Given the description of an element on the screen output the (x, y) to click on. 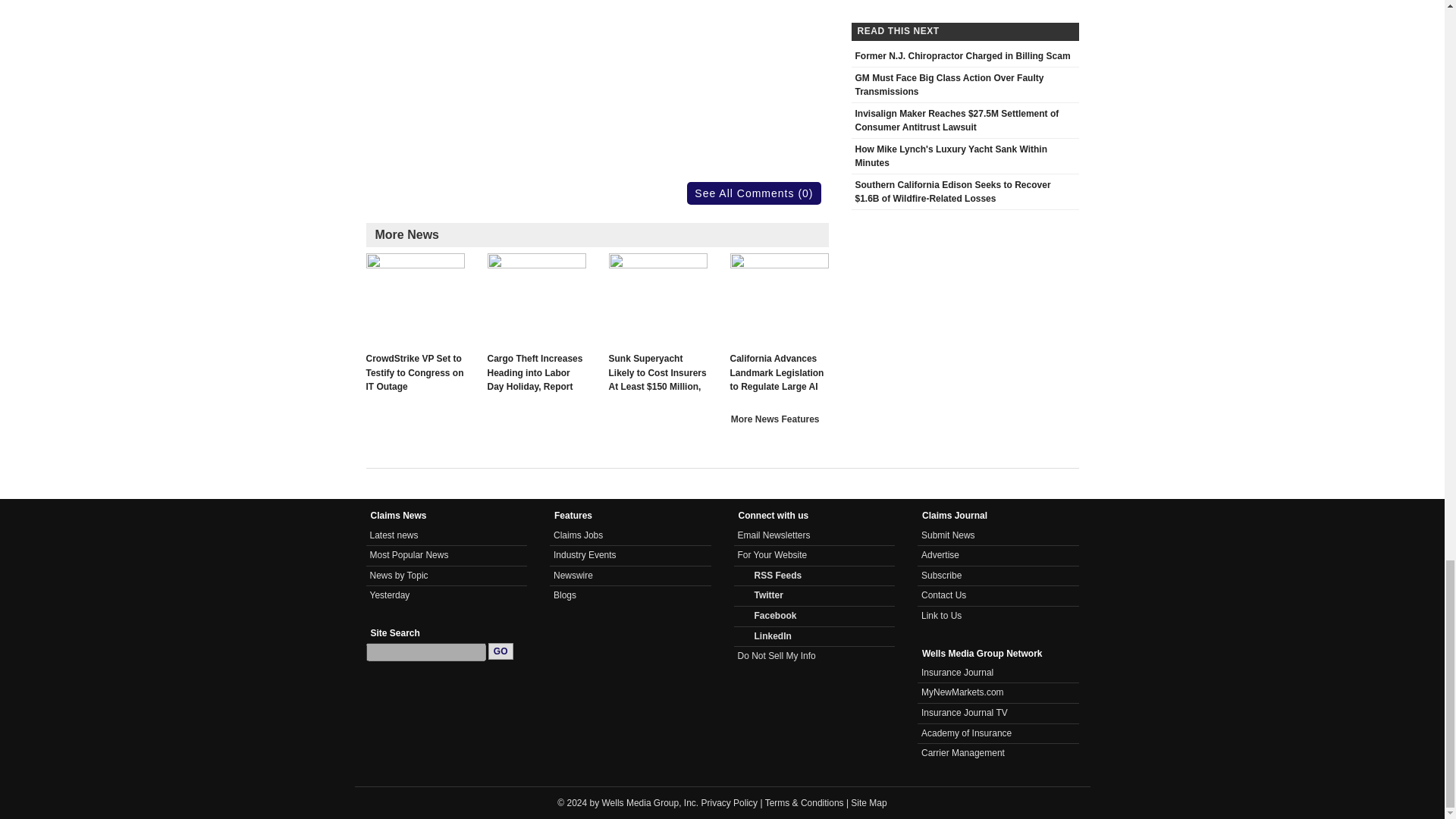
Go (500, 651)
Insurance Market Search Engine (962, 692)
Insurance News by Topic (398, 575)
